Given the description of an element on the screen output the (x, y) to click on. 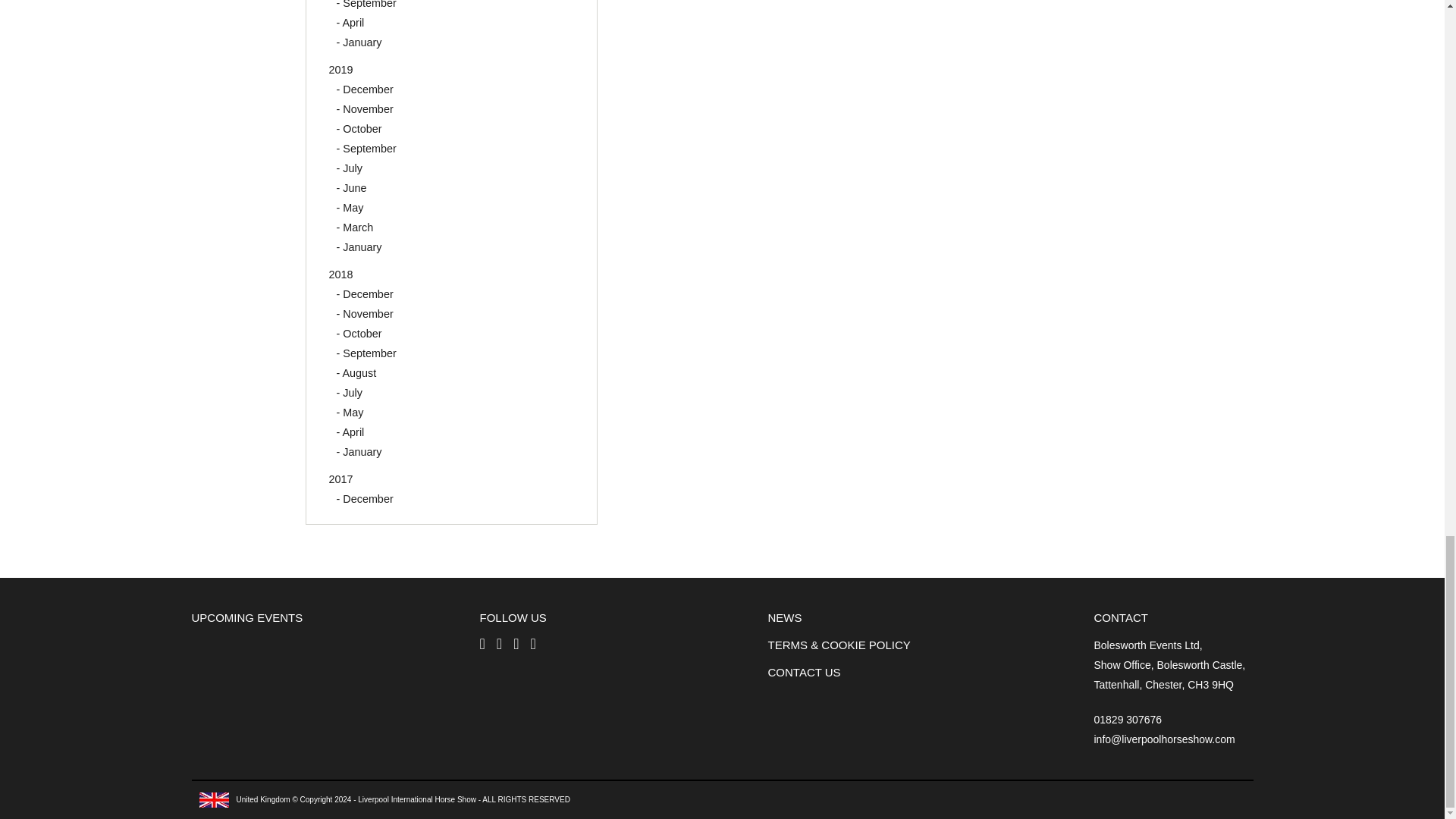
- November (364, 109)
- March (355, 227)
- September (366, 4)
- April (350, 22)
- May (350, 207)
- January (358, 42)
- December (364, 89)
- October (358, 128)
- July (349, 168)
- December (364, 294)
